Given the description of an element on the screen output the (x, y) to click on. 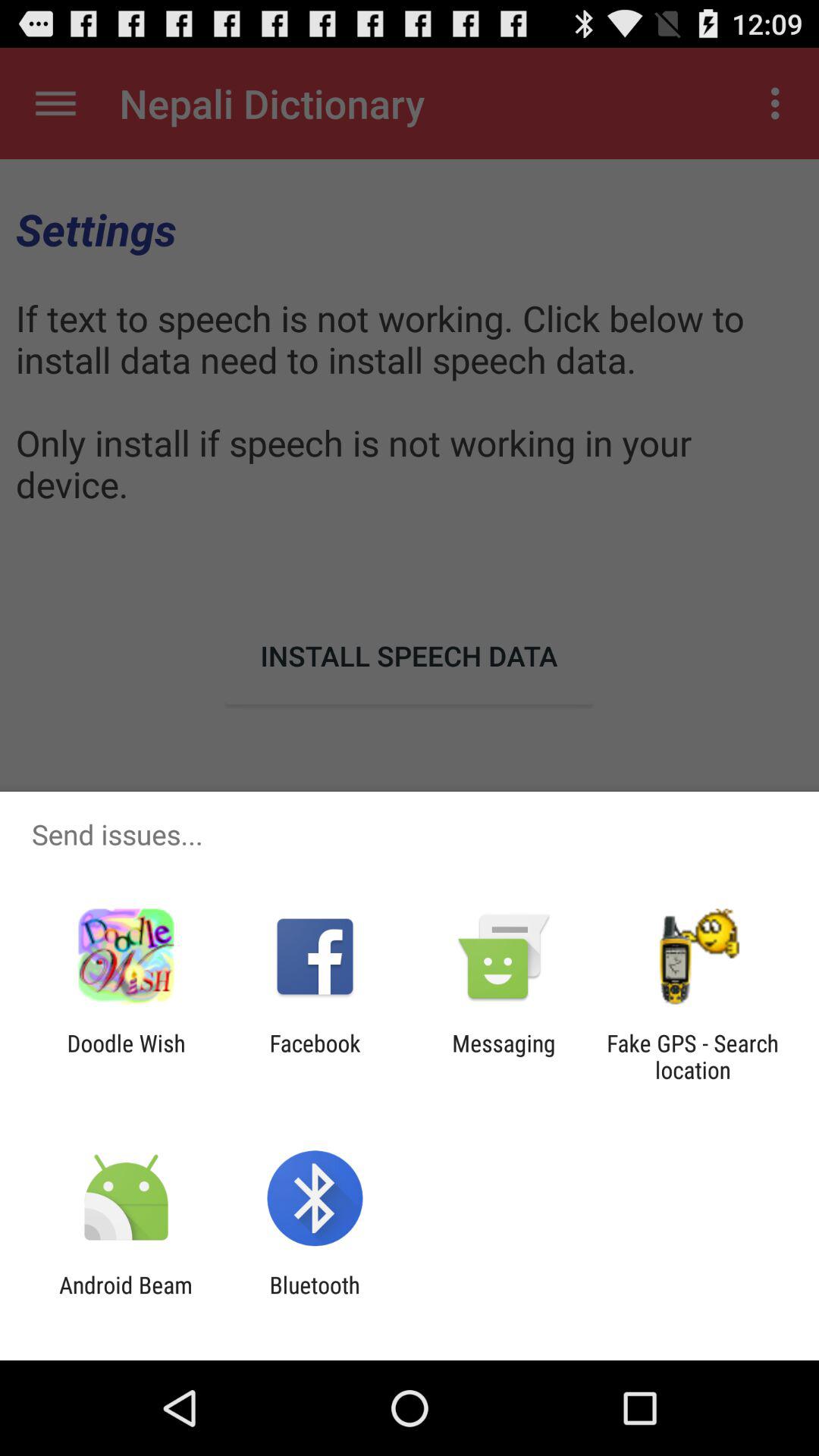
tap the app next to the fake gps search (503, 1056)
